Given the description of an element on the screen output the (x, y) to click on. 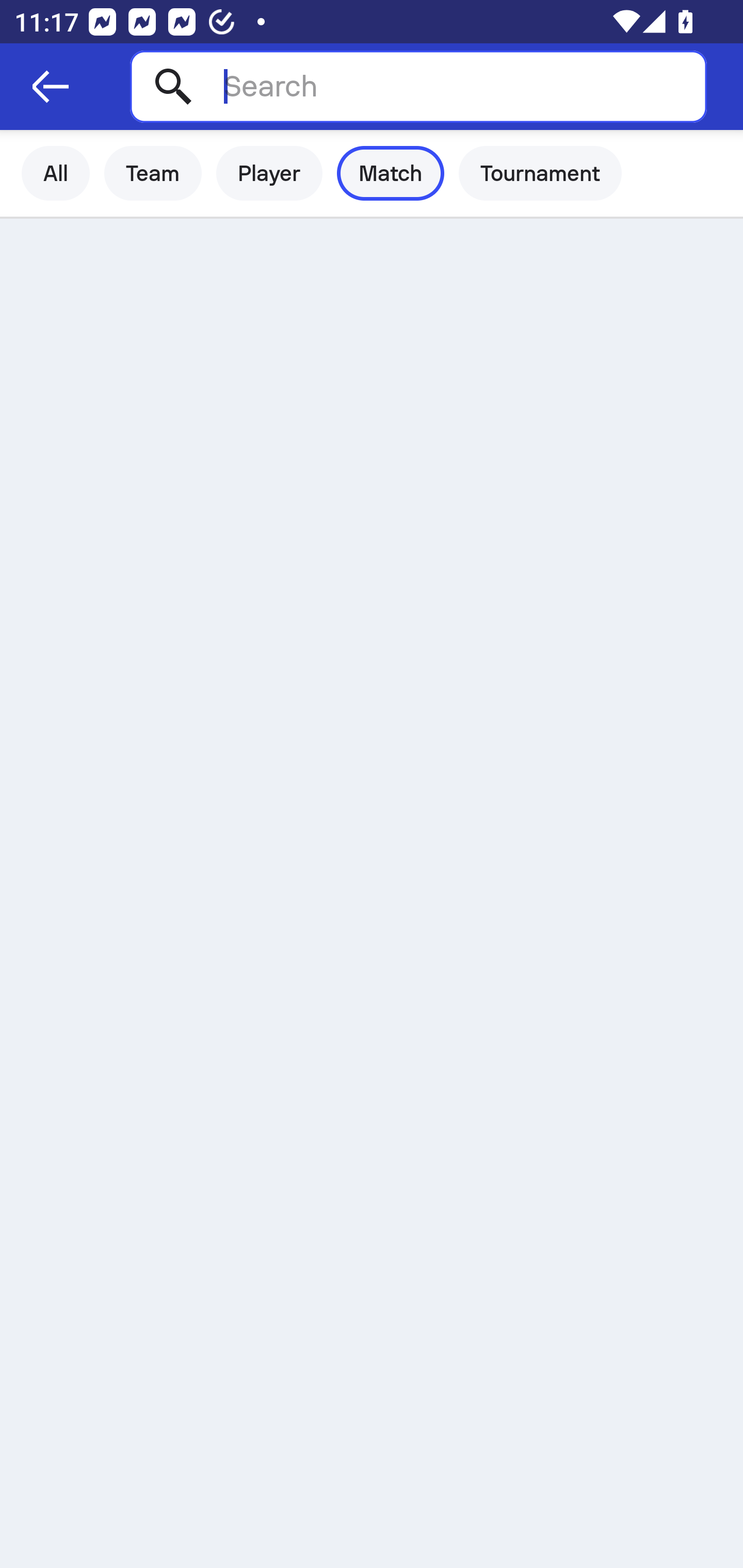
Navigate up (50, 86)
Search (418, 86)
All (55, 172)
Team (152, 172)
Player (268, 172)
Match (390, 172)
Tournament (540, 172)
